Given the description of an element on the screen output the (x, y) to click on. 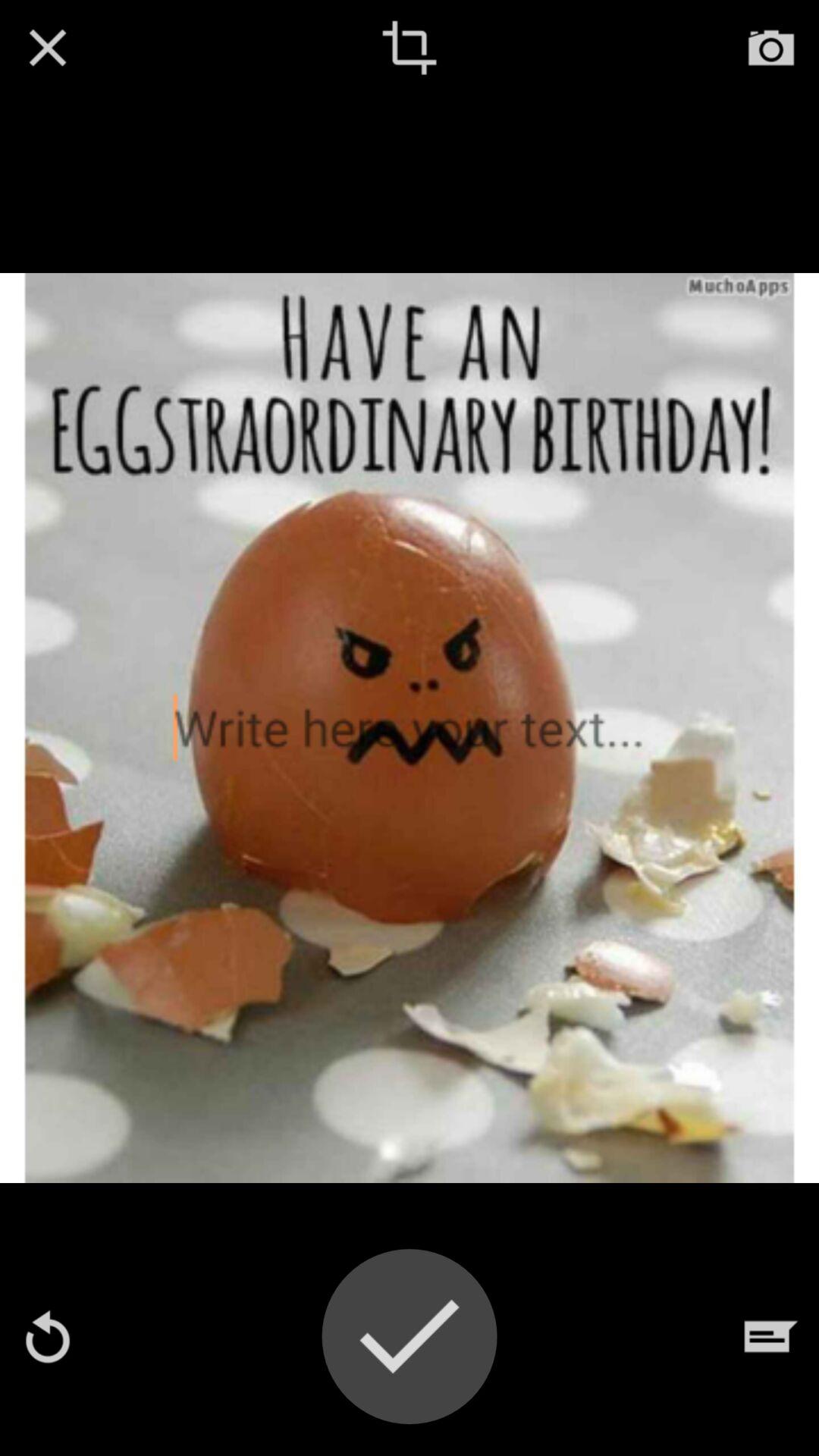
confirm (409, 1336)
